Given the description of an element on the screen output the (x, y) to click on. 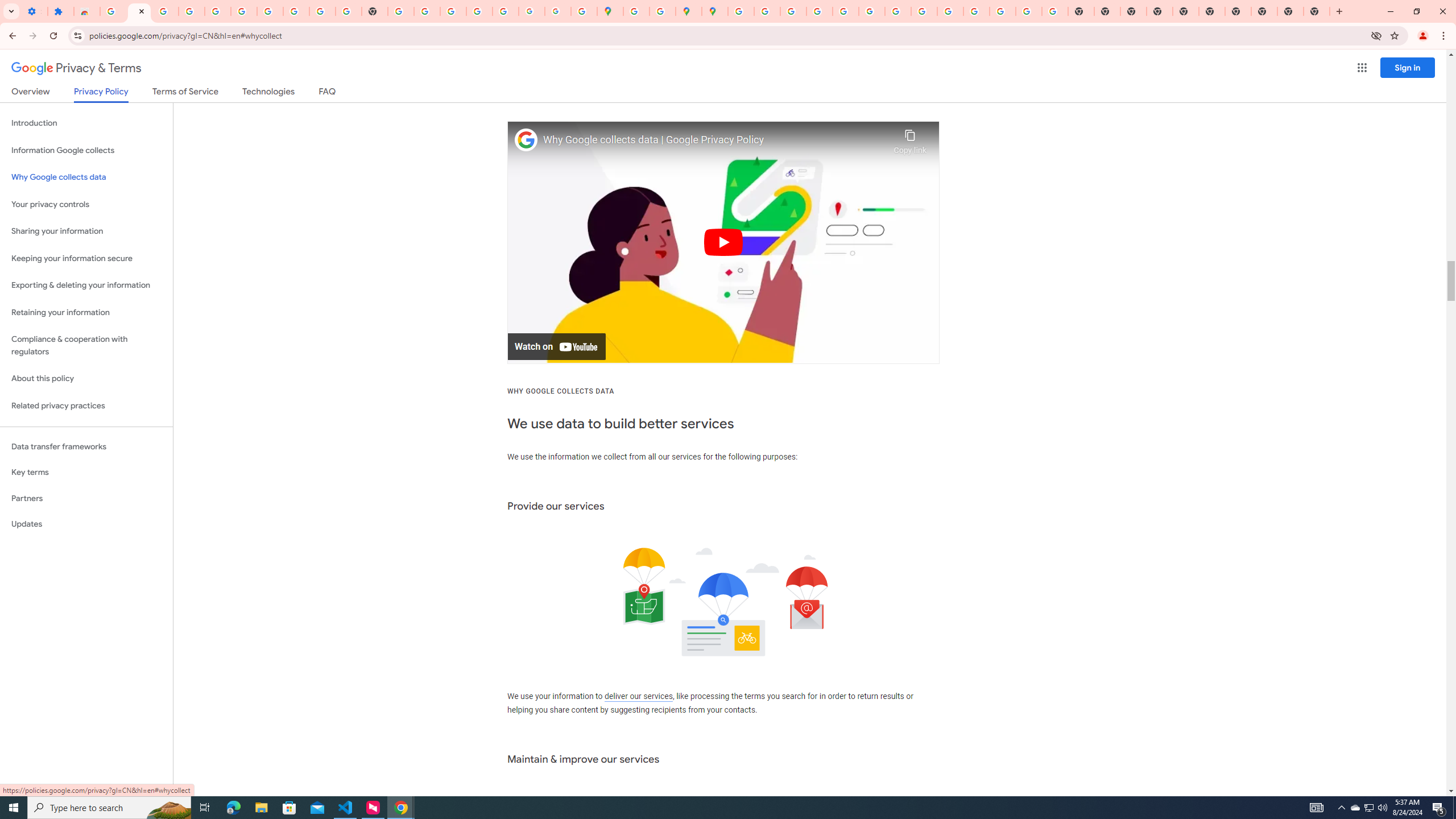
Privacy Help Center - Policies Help (792, 11)
Photo image of Google (526, 139)
